Given the description of an element on the screen output the (x, y) to click on. 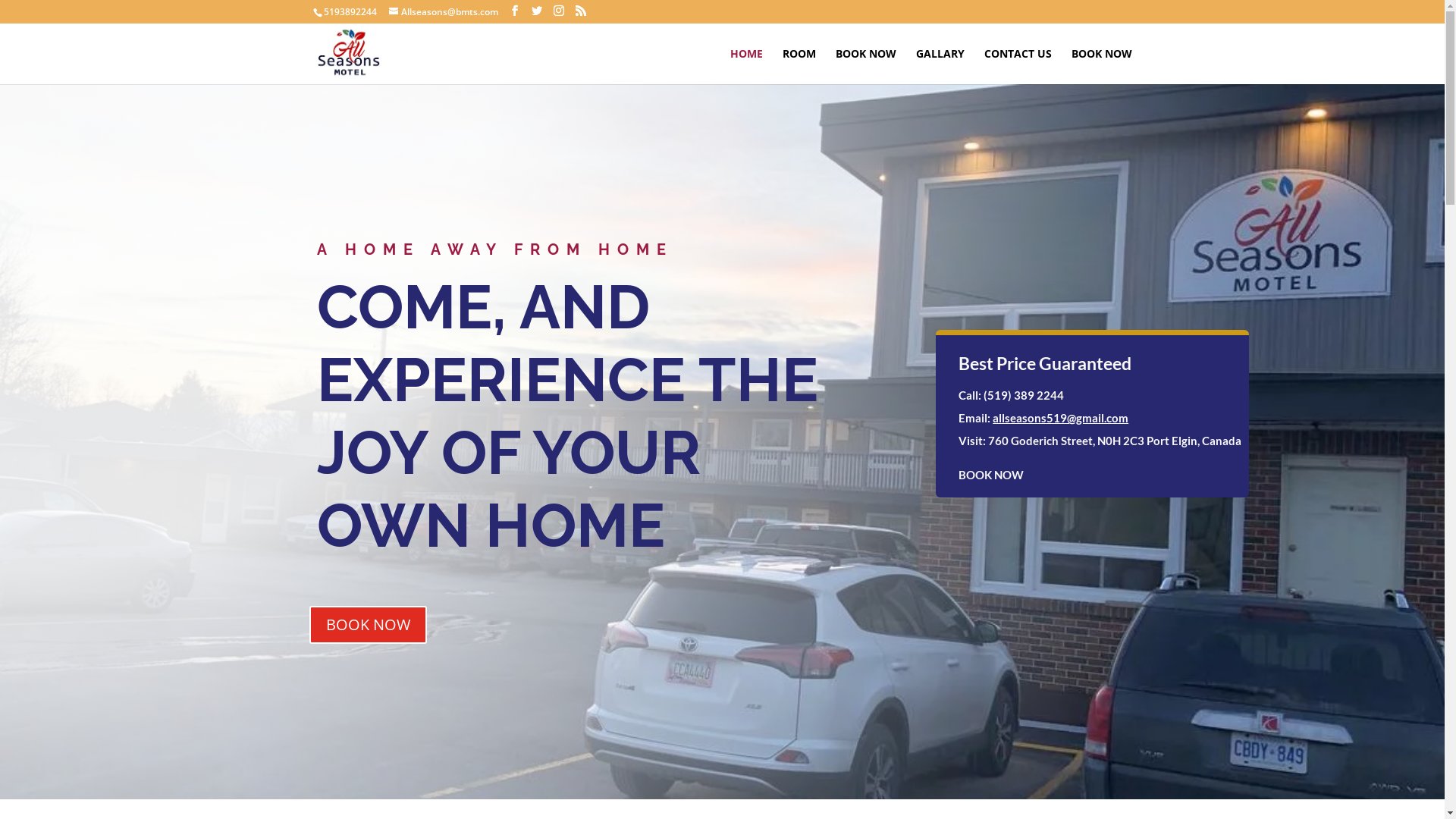
Allseasons@bmts.com Element type: text (442, 11)
ROOM Element type: text (798, 66)
BOOK NOW Element type: text (367, 624)
CONTACT US Element type: text (1017, 66)
HOME Element type: text (745, 66)
BOOK NOW Element type: text (865, 66)
BOOK NOW Element type: text (1100, 66)
BOOK NOW Element type: text (990, 474)
GALLARY Element type: text (940, 66)
